Given the description of an element on the screen output the (x, y) to click on. 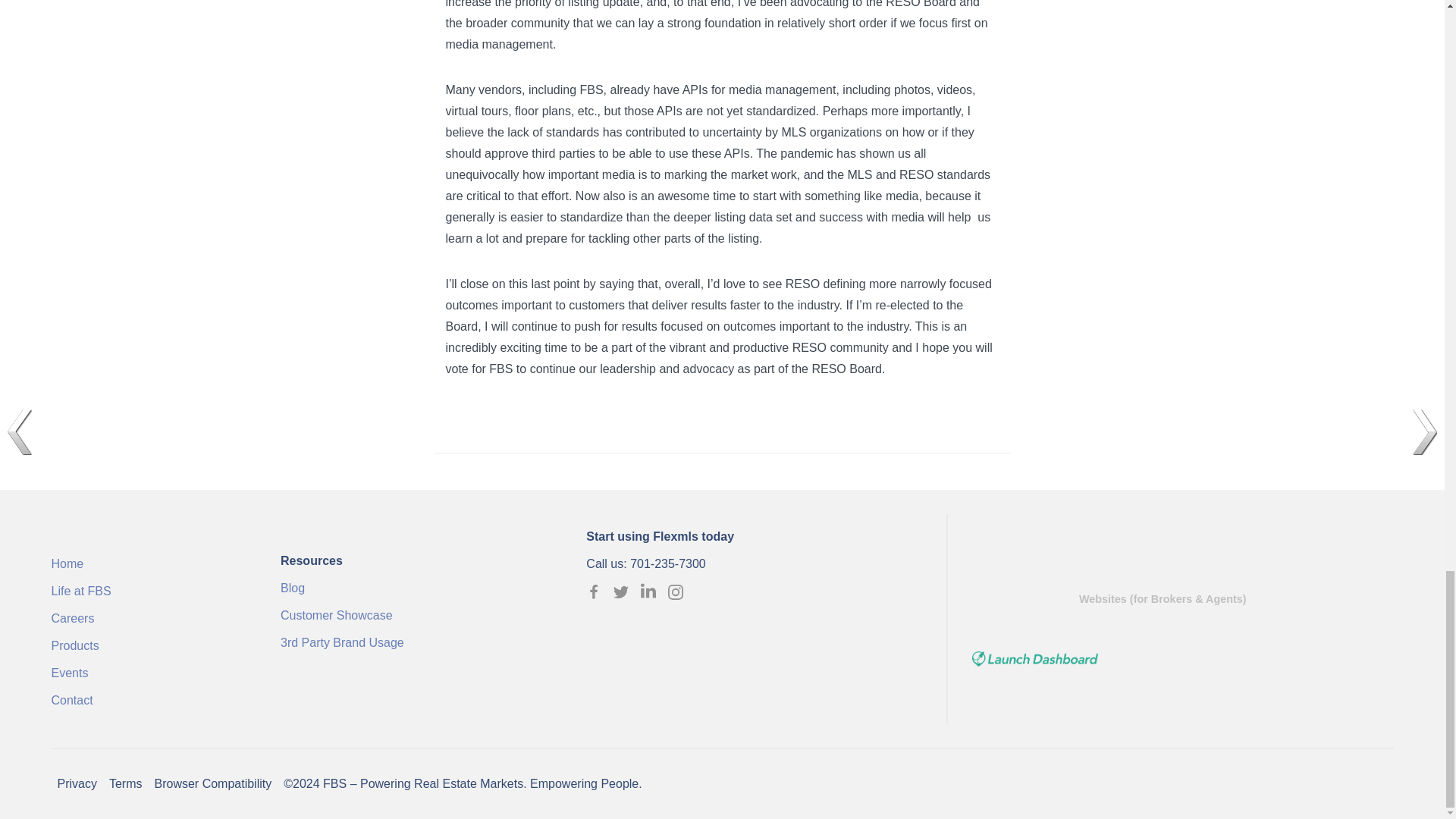
Events (150, 669)
3rd Party Brand Usage (419, 639)
Life at FBS (150, 587)
Blog (419, 584)
Customer Showcase (419, 612)
Contact (150, 697)
Products (150, 642)
701-235-7300 (668, 563)
Home (150, 560)
Careers (150, 615)
